Given the description of an element on the screen output the (x, y) to click on. 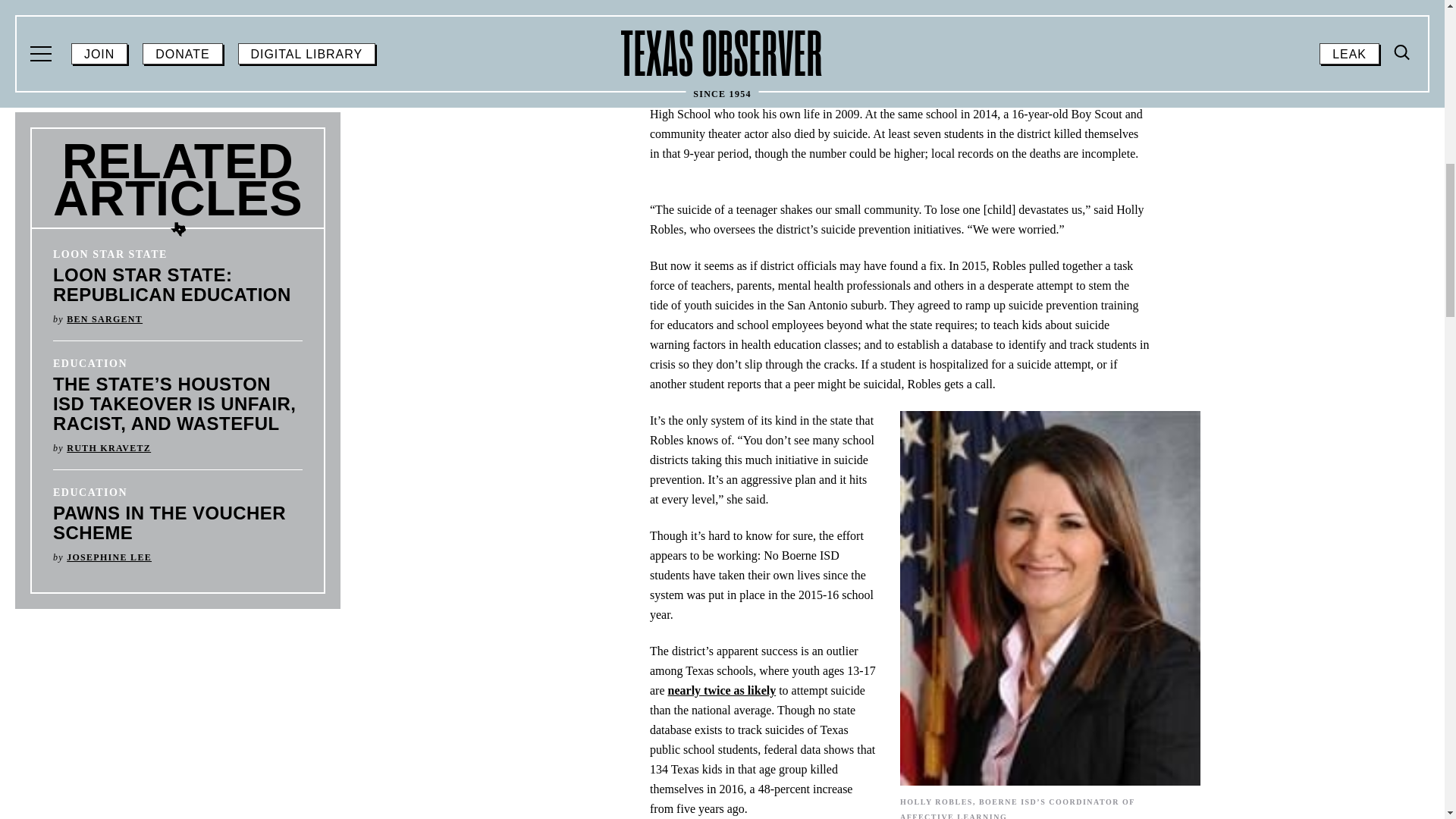
Post by Josephine Lee (108, 557)
Post by Ben Sargent (104, 318)
Post by Ruth Kravetz (108, 448)
